Given the description of an element on the screen output the (x, y) to click on. 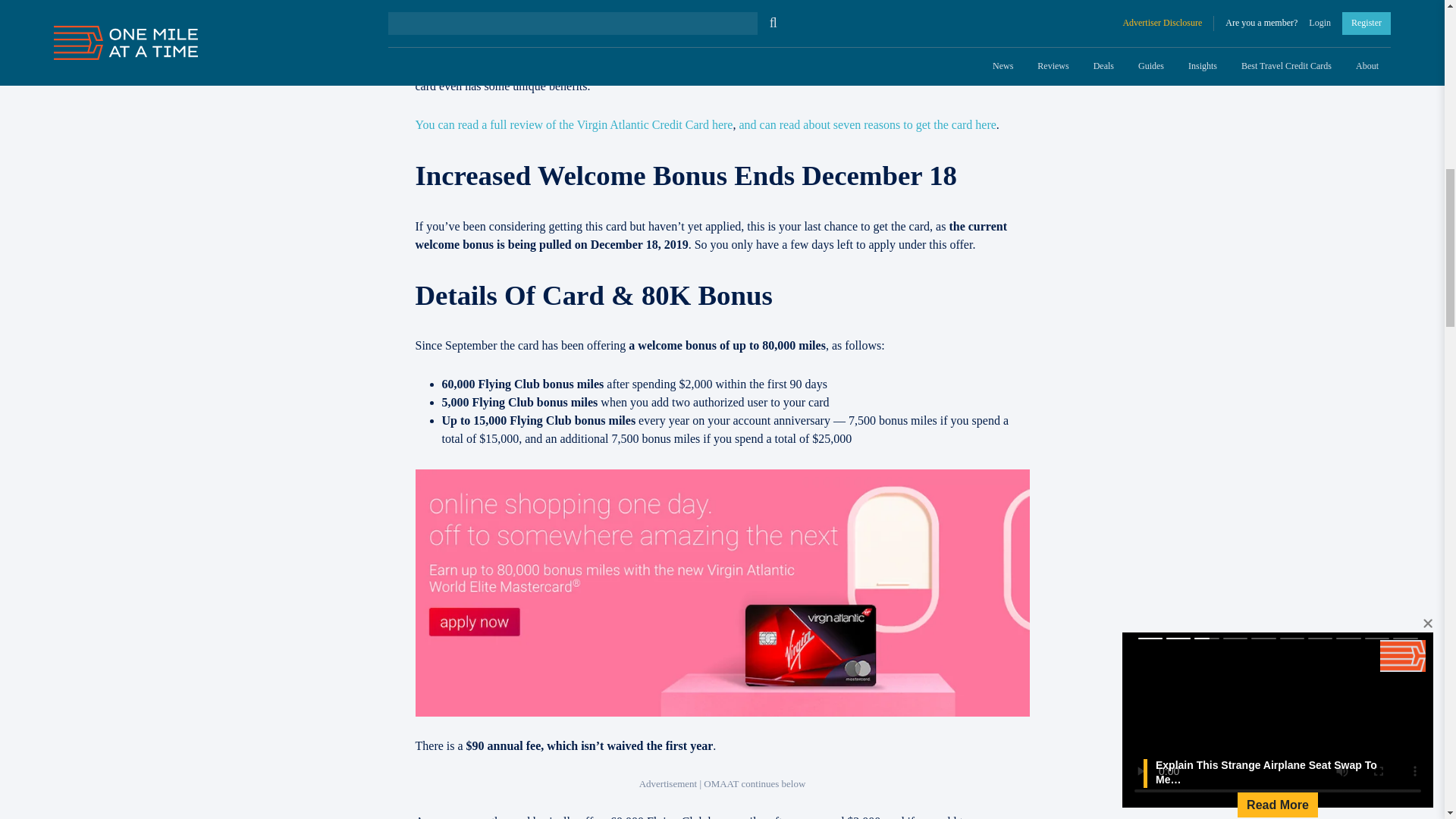
Virgin Atlantic World Elite Mastercard 80k (542, 49)
